Given the description of an element on the screen output the (x, y) to click on. 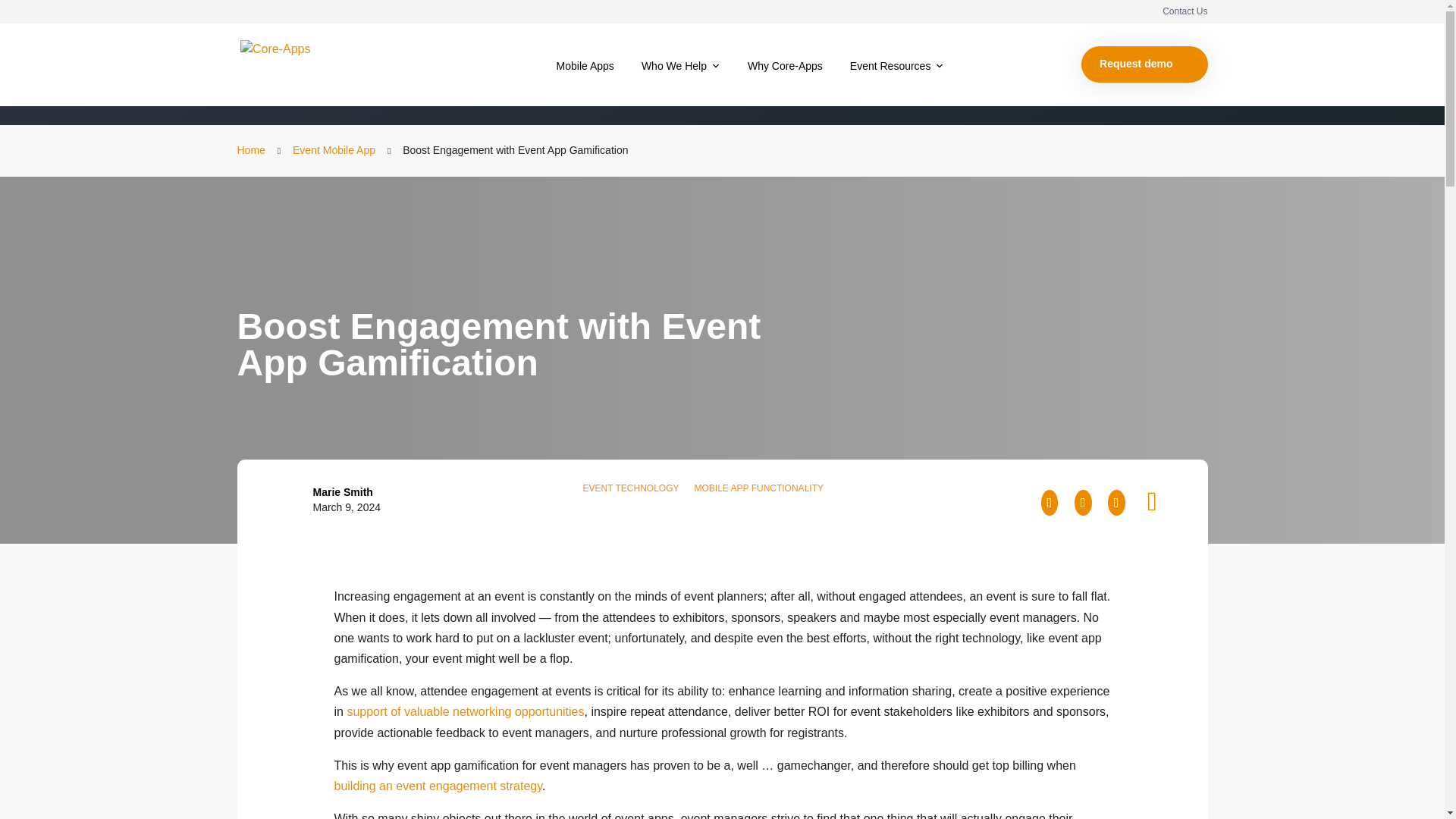
Event Mobile App (530, 92)
Events (733, 92)
Who We Help (680, 65)
MOBILE APP FUNCTIONALITY (758, 488)
Blog (259, 90)
Event Mobile App (333, 150)
Why Core-Apps (784, 65)
Event Engagement (411, 92)
Event Technology (646, 92)
Search for: (1193, 91)
